Given the description of an element on the screen output the (x, y) to click on. 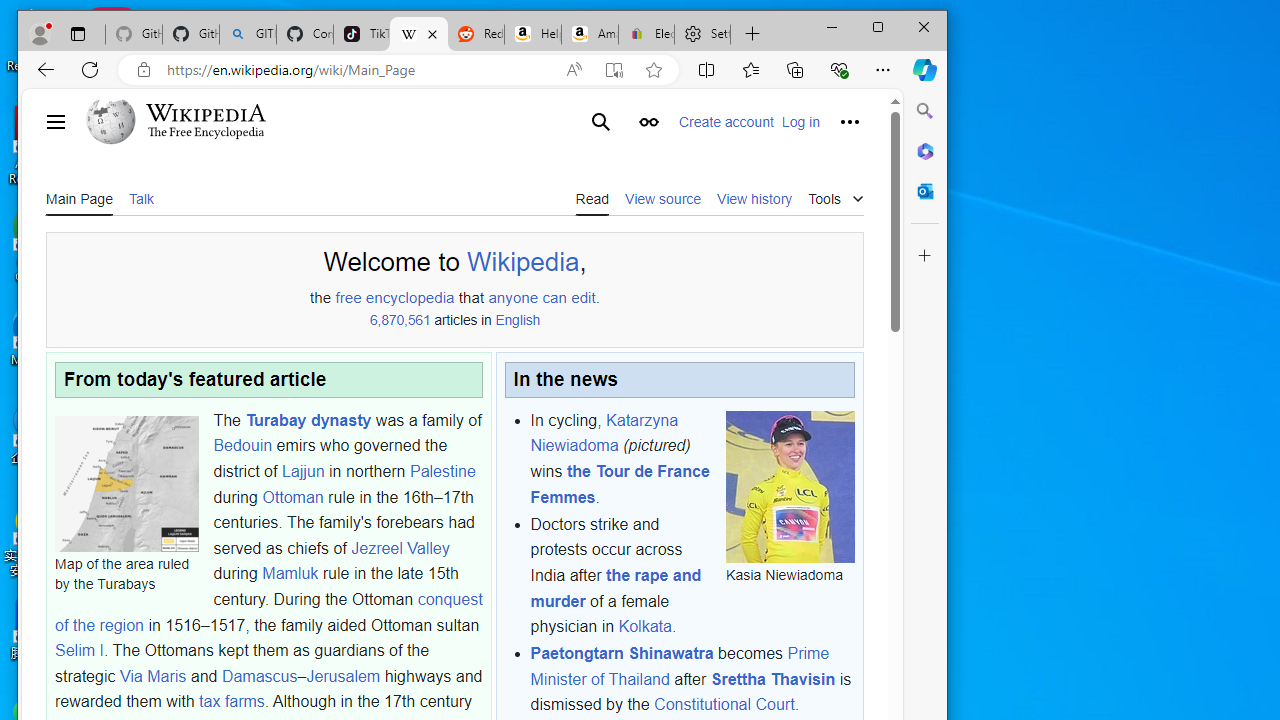
Paetongtarn Shinawatra (621, 654)
Read (592, 197)
Wikipedia, the free encyclopedia (418, 34)
Main menu (56, 122)
Kasia Niewiadoma (790, 486)
Talk (140, 197)
Map of the area ruled by the Turabays (126, 483)
Wikipedia The Free Encyclopedia (196, 121)
